Given the description of an element on the screen output the (x, y) to click on. 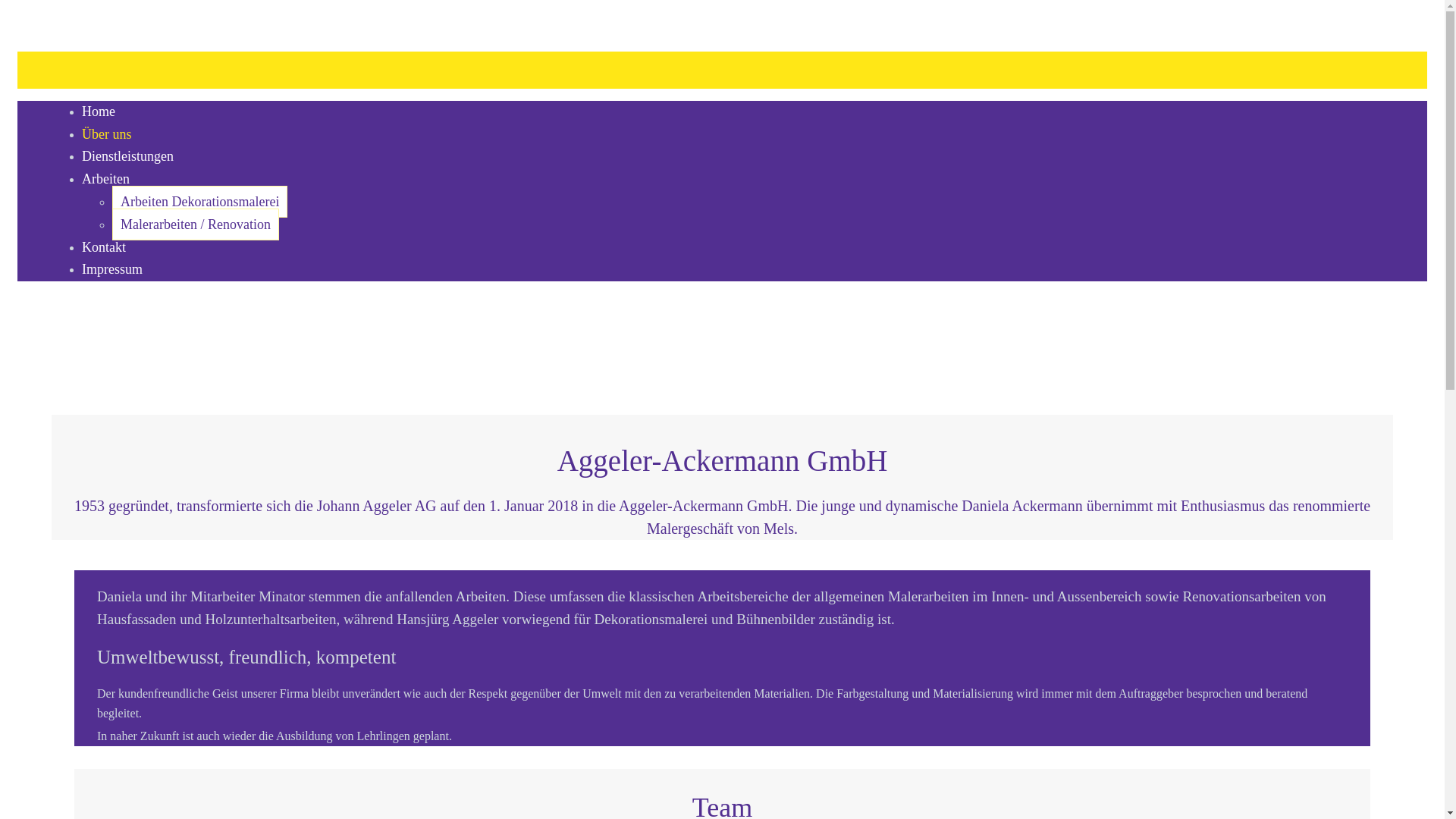
Dienstleistungen Element type: text (127, 155)
Impressum Element type: text (111, 268)
Home Element type: text (98, 110)
Arbeiten Dekorationsmalerei Element type: text (199, 201)
Arbeiten Element type: text (105, 177)
Kontakt Element type: text (103, 246)
Malerarbeiten / Renovation Element type: text (195, 224)
